Given the description of an element on the screen output the (x, y) to click on. 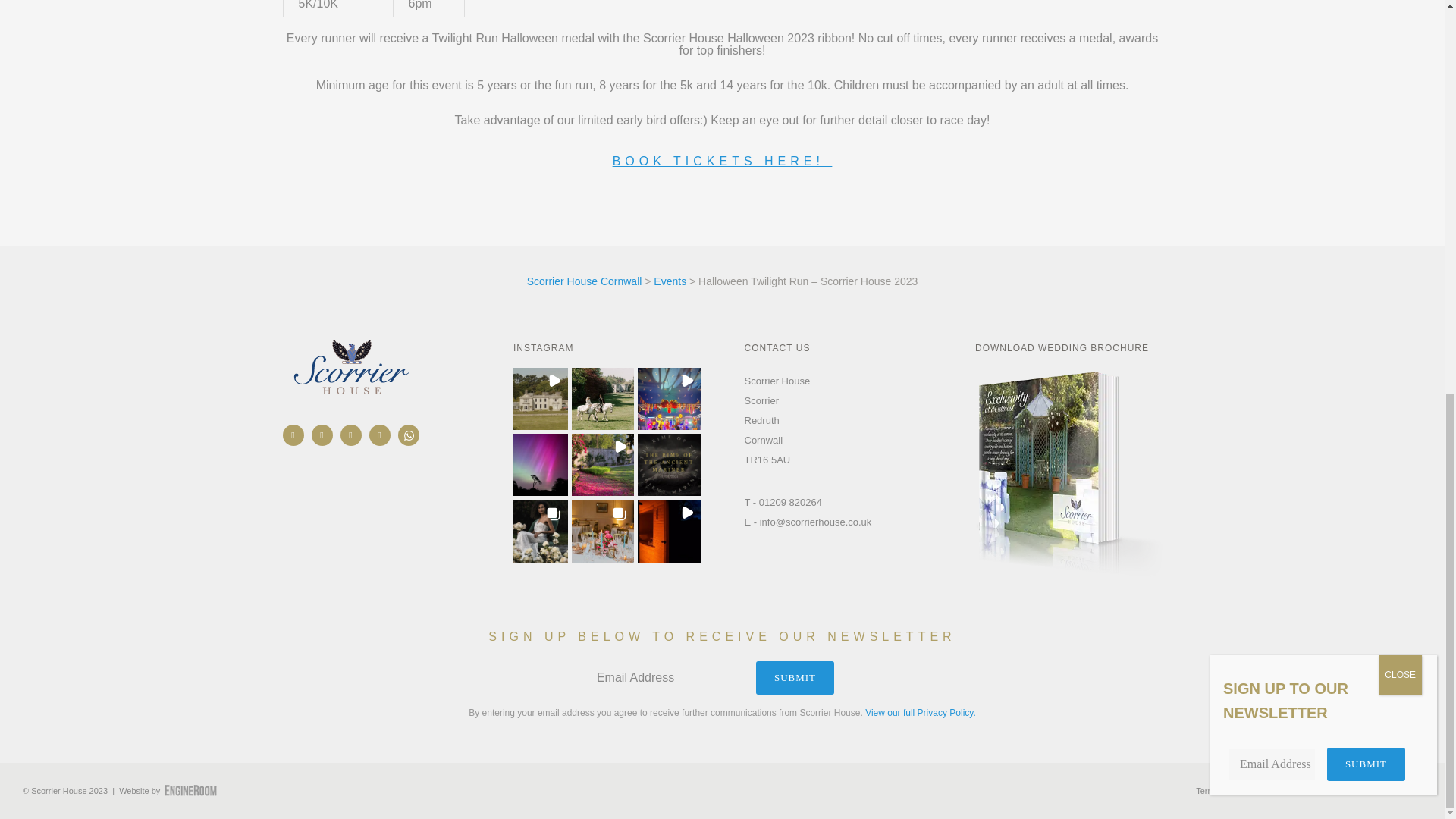
Submit (794, 677)
Submit (1365, 11)
